Given the description of an element on the screen output the (x, y) to click on. 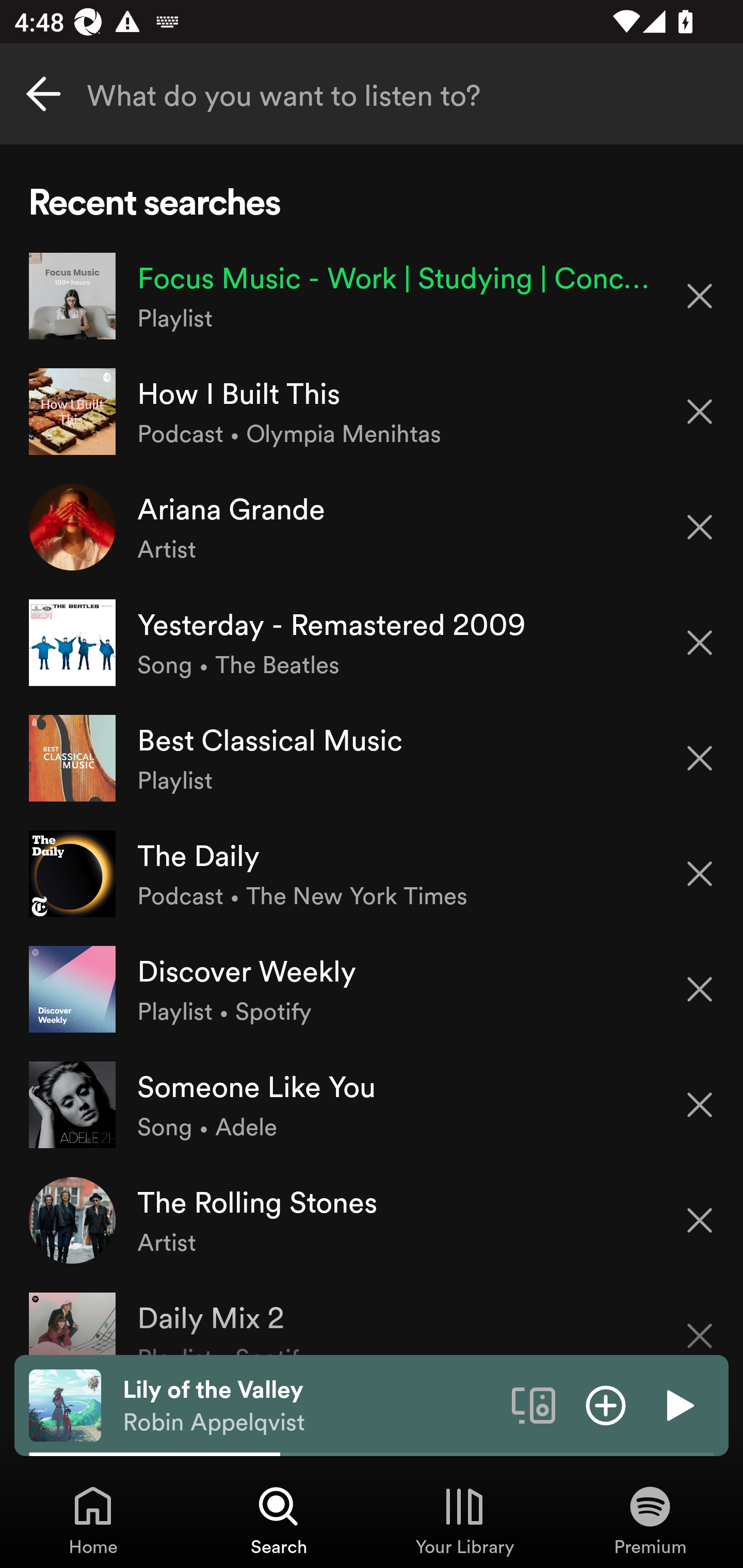
What do you want to listen to? (371, 93)
Cancel (43, 93)
Remove (699, 295)
Remove (699, 411)
Ariana Grande Artist Remove (371, 526)
Remove (699, 527)
Remove (699, 642)
Best Classical Music Playlist Remove (371, 757)
Remove (699, 758)
The Daily Podcast • The New York Times Remove (371, 873)
Remove (699, 874)
Discover Weekly Playlist • Spotify Remove (371, 989)
Remove (699, 989)
Someone Like You Song • Adele Remove (371, 1104)
Remove (699, 1104)
The Rolling Stones Artist Remove (371, 1219)
Remove (699, 1220)
Daily Mix 2 Playlist • Spotify Remove (371, 1315)
Remove (699, 1323)
Lily of the Valley Robin Appelqvist (309, 1405)
The cover art of the currently playing track (64, 1404)
Connect to a device. Opens the devices menu (533, 1404)
Add item (605, 1404)
Play (677, 1404)
Home, Tab 1 of 4 Home Home (92, 1519)
Search, Tab 2 of 4 Search Search (278, 1519)
Your Library, Tab 3 of 4 Your Library Your Library (464, 1519)
Premium, Tab 4 of 4 Premium Premium (650, 1519)
